Given the description of an element on the screen output the (x, y) to click on. 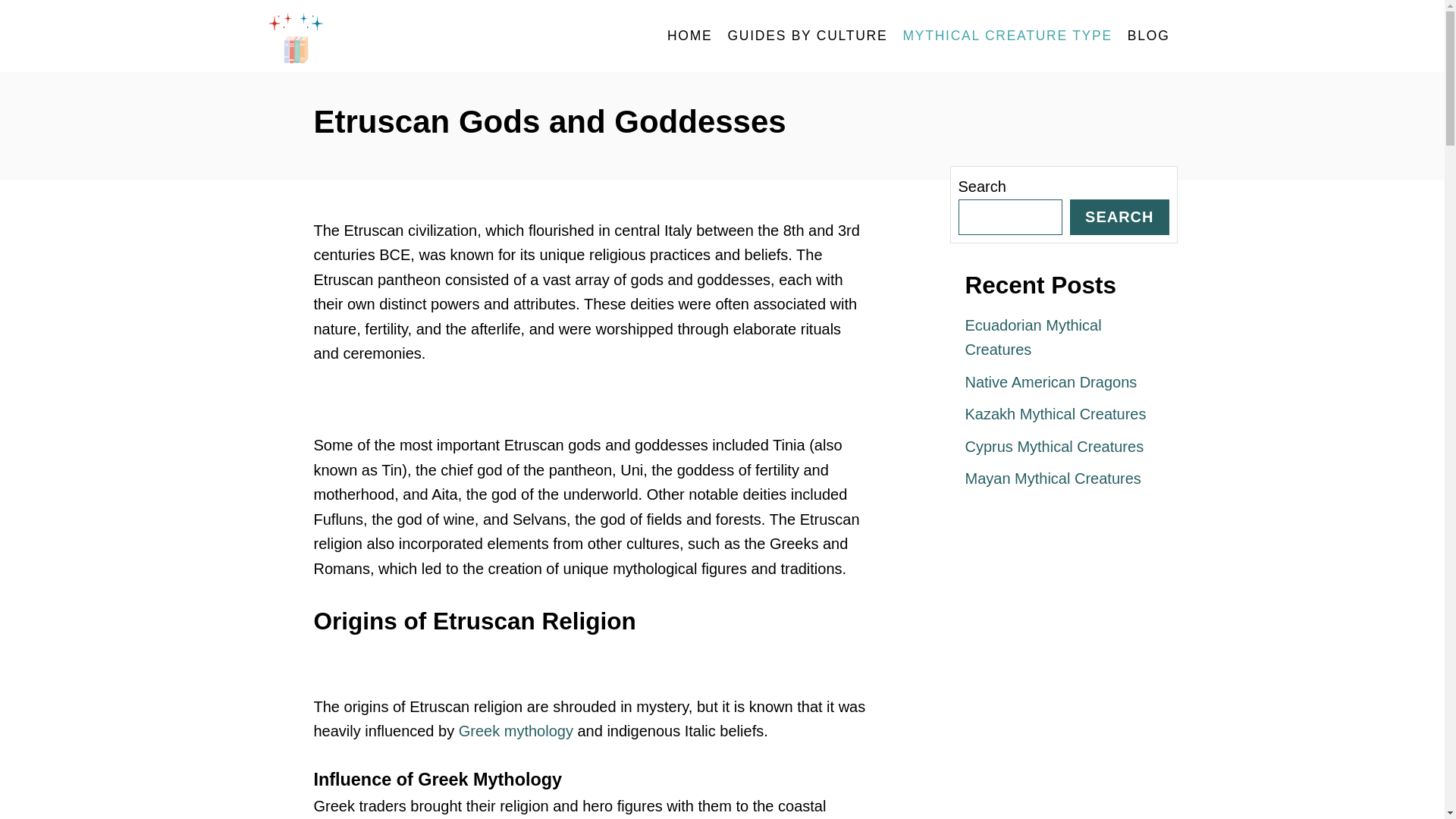
GUIDES BY CULTURE (807, 36)
Mythical Encyclopedia (403, 36)
MYTHICAL CREATURE TYPE (1007, 36)
HOME (689, 36)
